Given the description of an element on the screen output the (x, y) to click on. 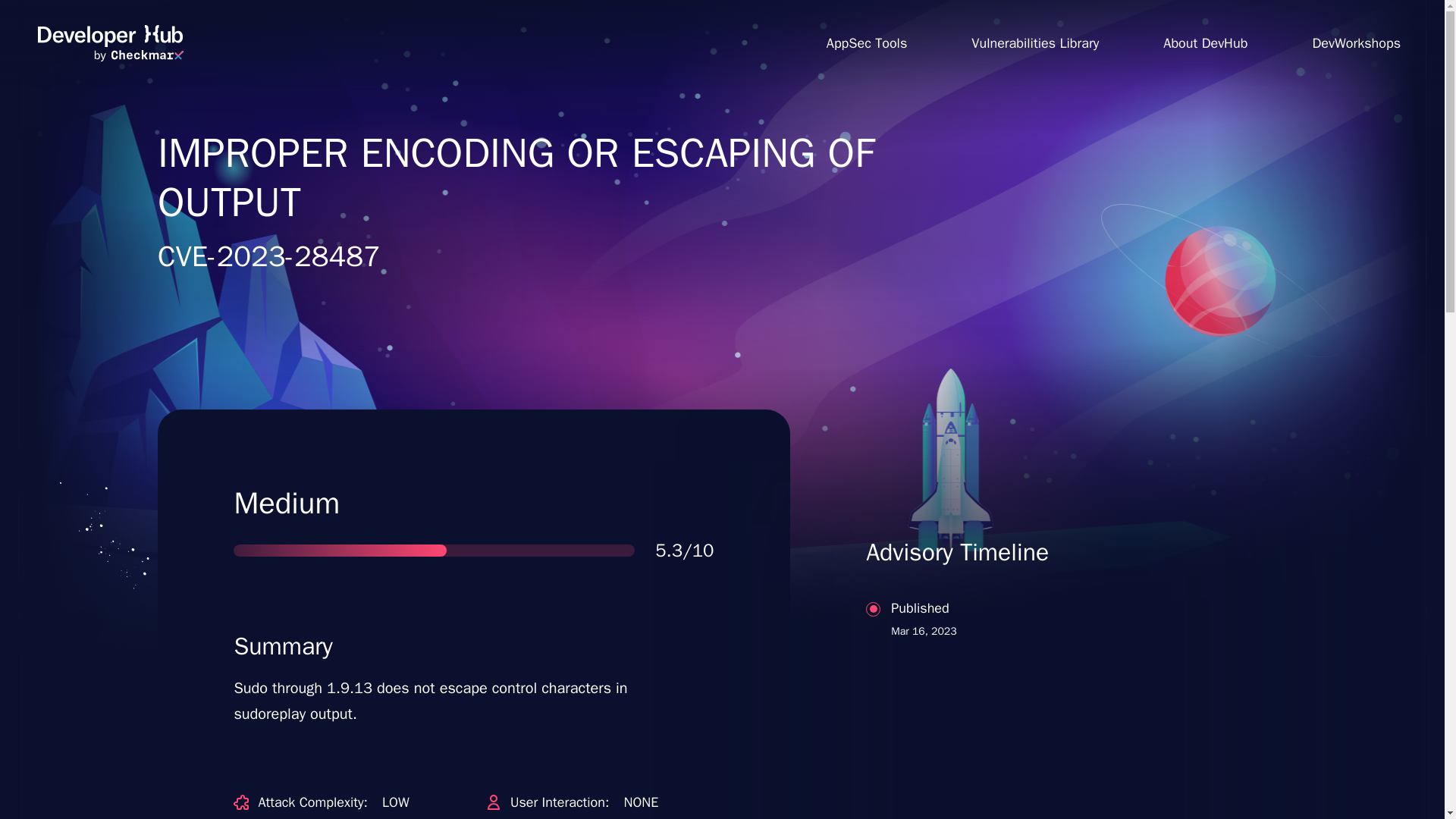
AppSec Tools (866, 43)
Vulnerabilities Library (1035, 43)
About DevHub (1205, 43)
DevWorkshops (1037, 678)
Goto website home page (1356, 43)
